Given the description of an element on the screen output the (x, y) to click on. 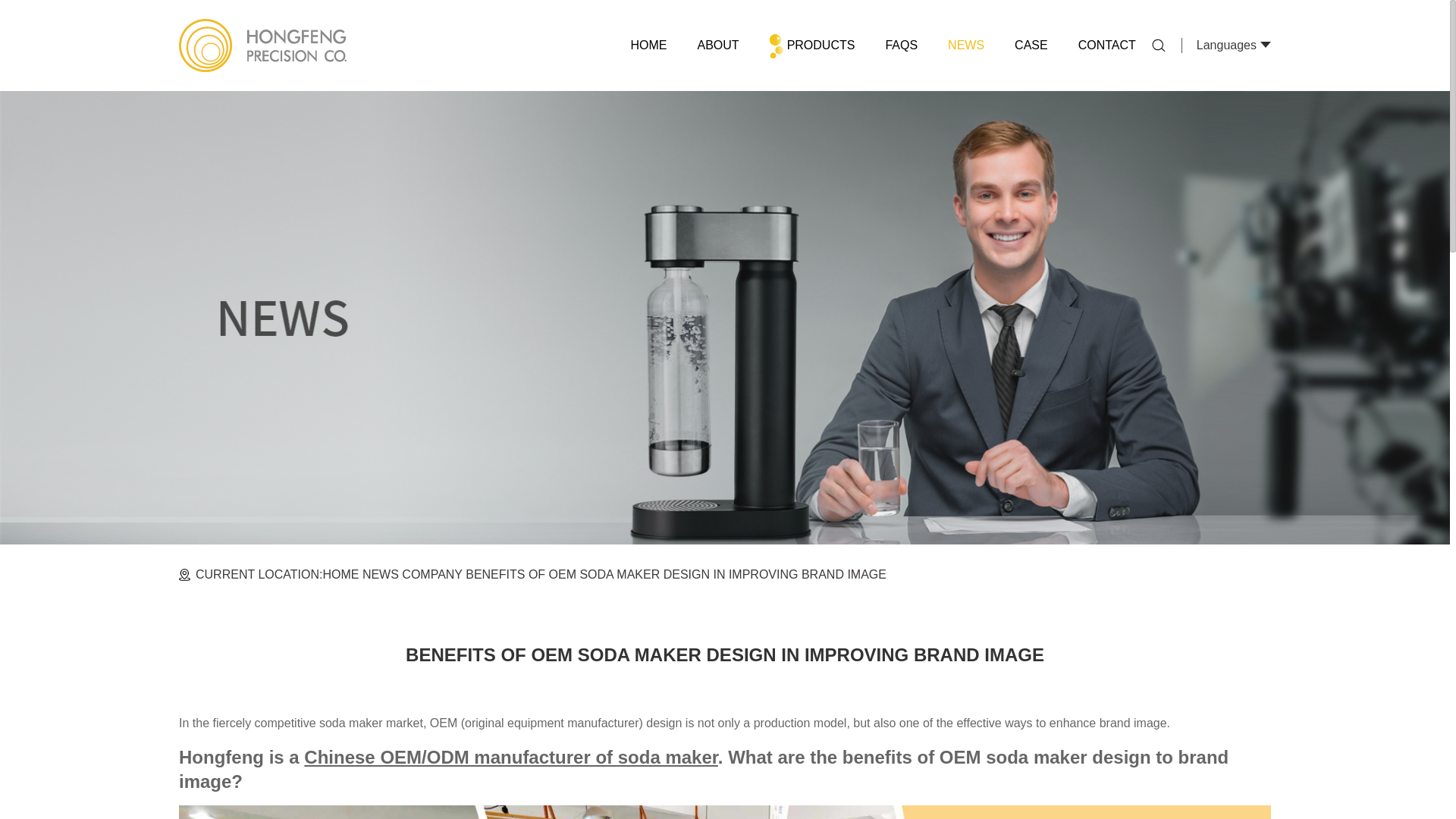
Languages (1226, 44)
Zhejiang Hongfeng Precision Co.,Ltd (262, 45)
PRODUCTS (812, 45)
CONTACT (1106, 45)
